Given the description of an element on the screen output the (x, y) to click on. 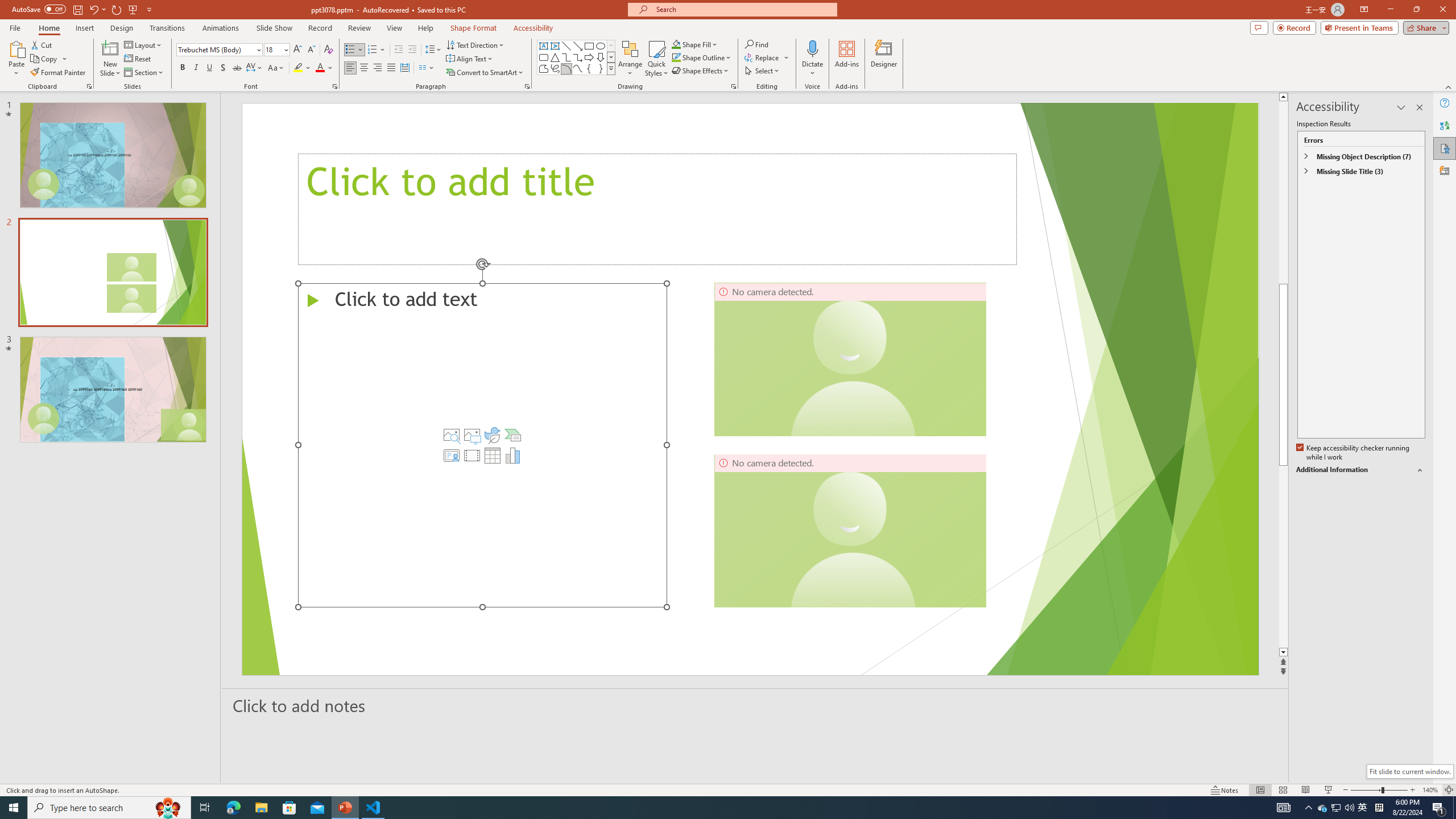
Insert Video (471, 455)
